Given the description of an element on the screen output the (x, y) to click on. 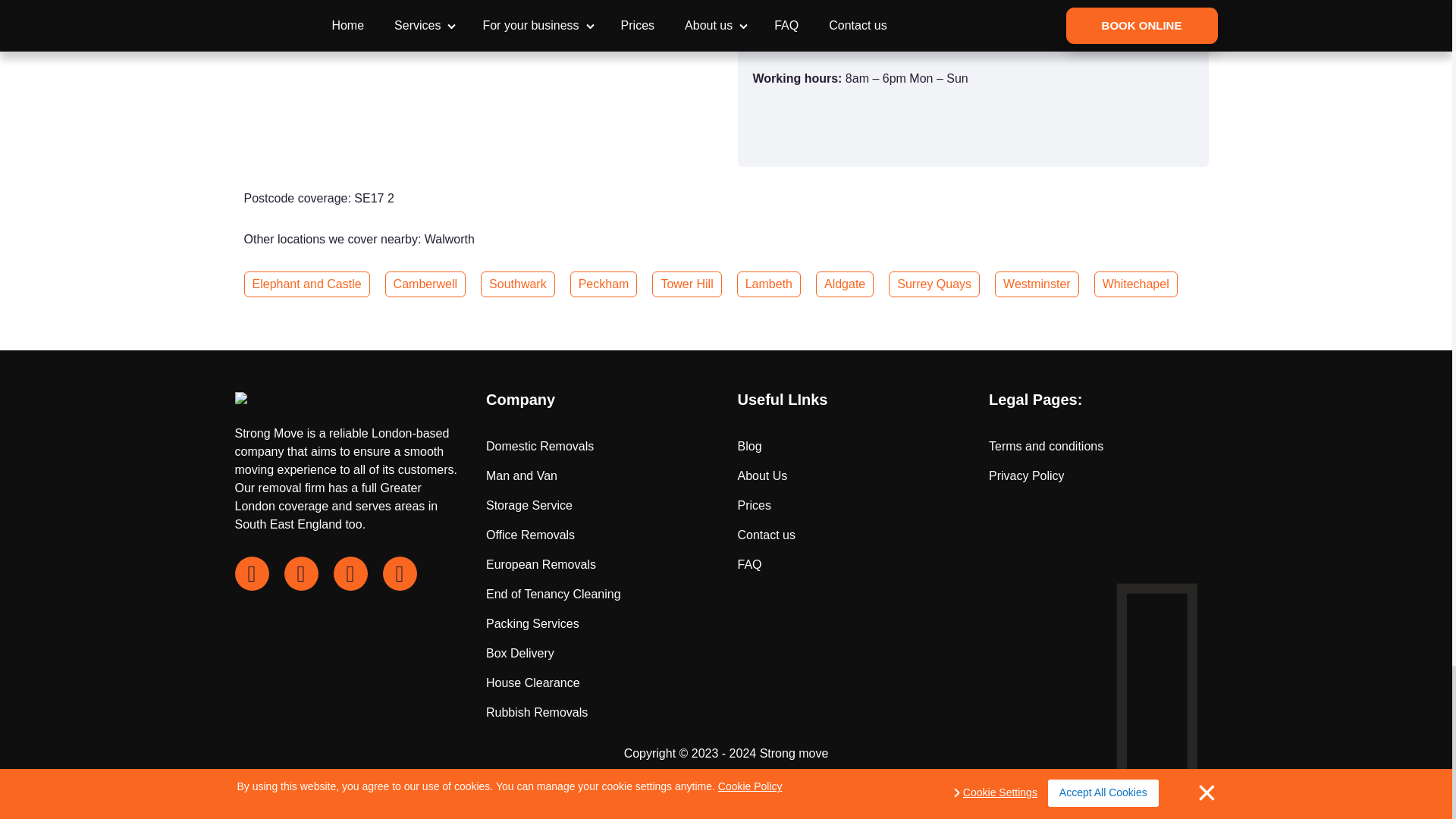
Walworth map location (479, 87)
Strong move (794, 753)
